Given the description of an element on the screen output the (x, y) to click on. 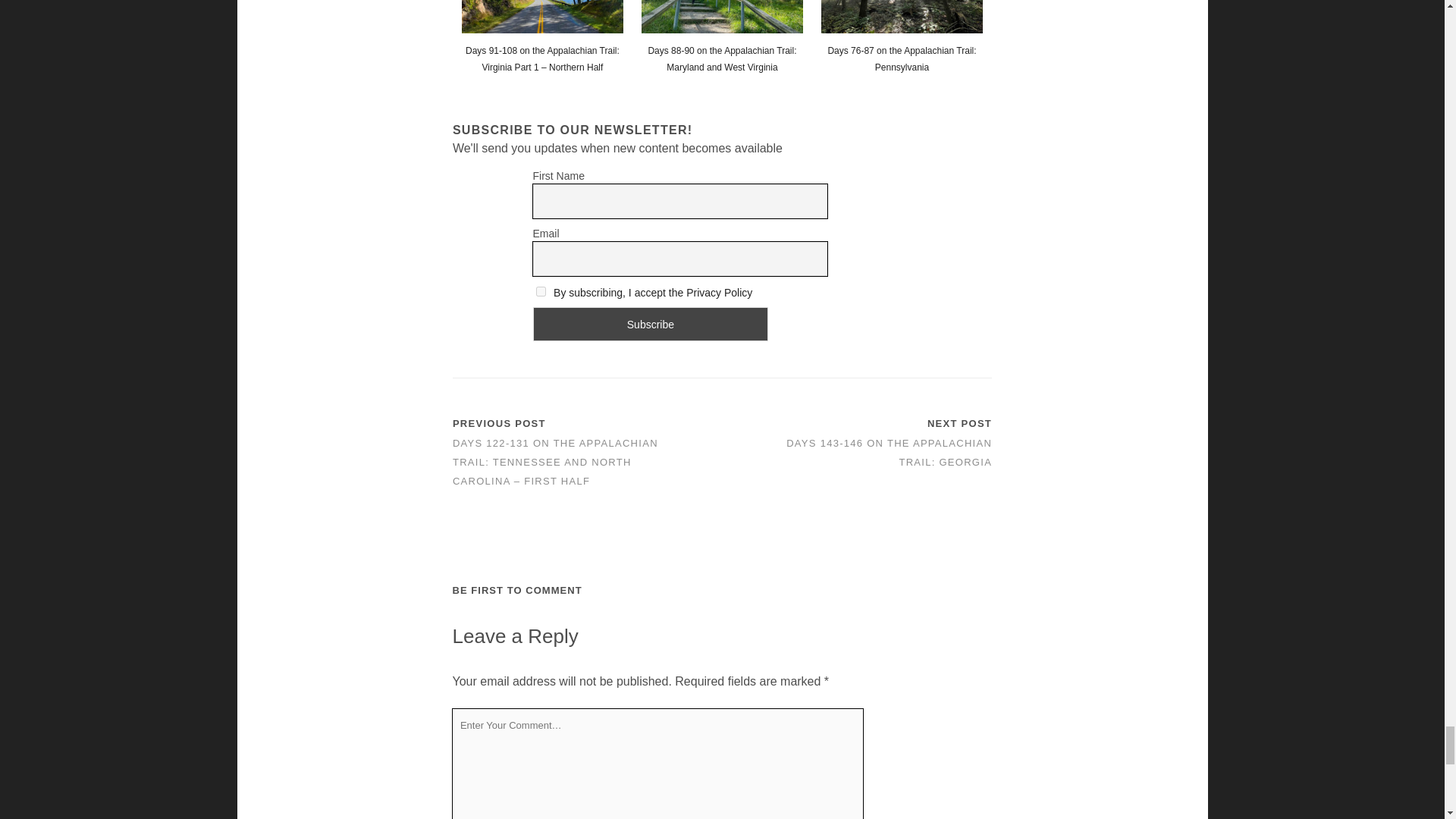
on (539, 291)
Subscribe (650, 324)
